Given the description of an element on the screen output the (x, y) to click on. 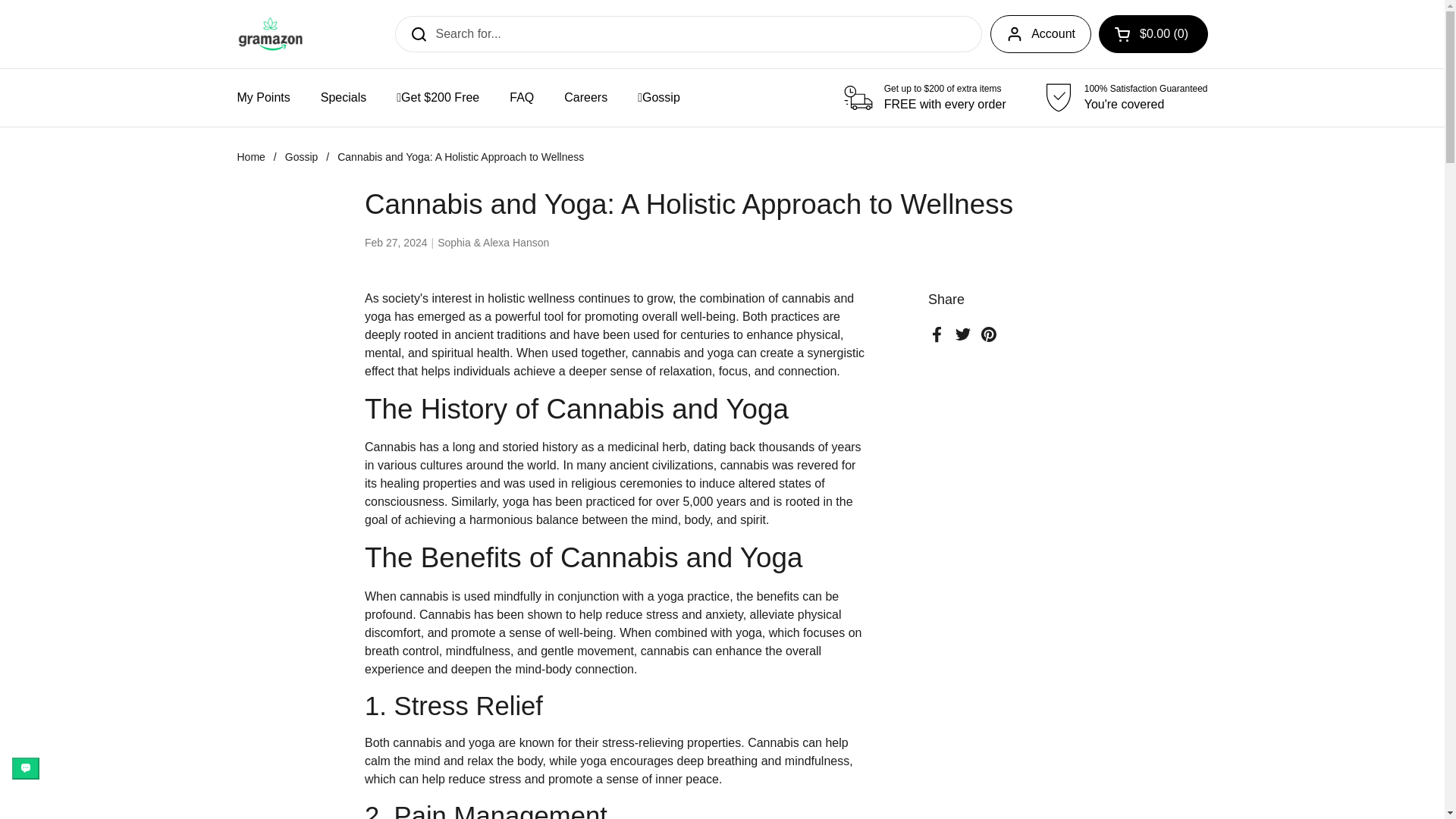
Pinterest (988, 334)
Careers (585, 97)
Gossip (301, 156)
Specials (343, 97)
FAQ (521, 97)
Account (1040, 34)
Facebook (937, 334)
Open cart (1153, 34)
Home (249, 156)
